Given the description of an element on the screen output the (x, y) to click on. 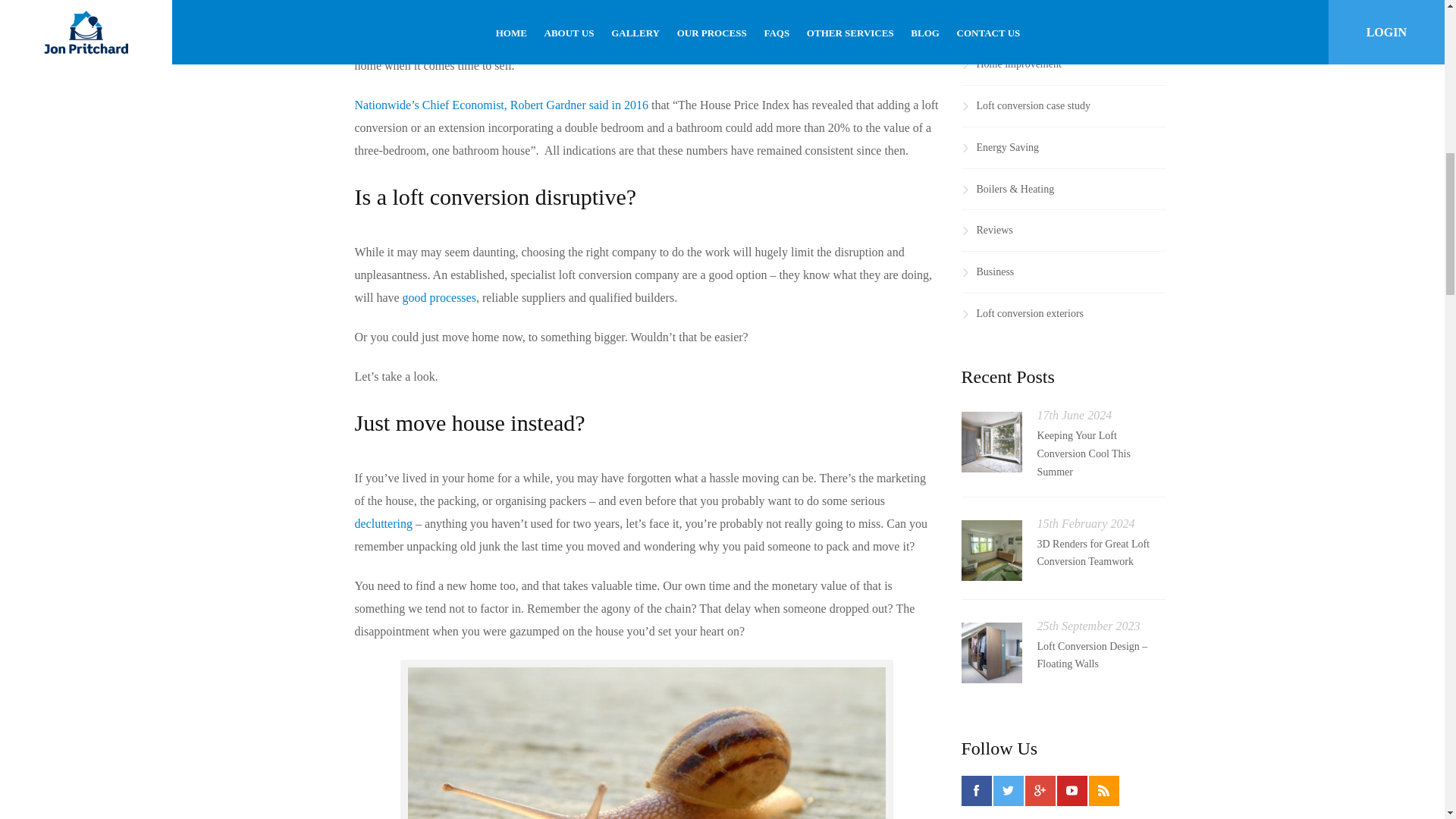
Twitter (1007, 790)
Facebook (975, 790)
Google Plus (1040, 790)
YouTube (1072, 790)
RSS (1104, 790)
